Given the description of an element on the screen output the (x, y) to click on. 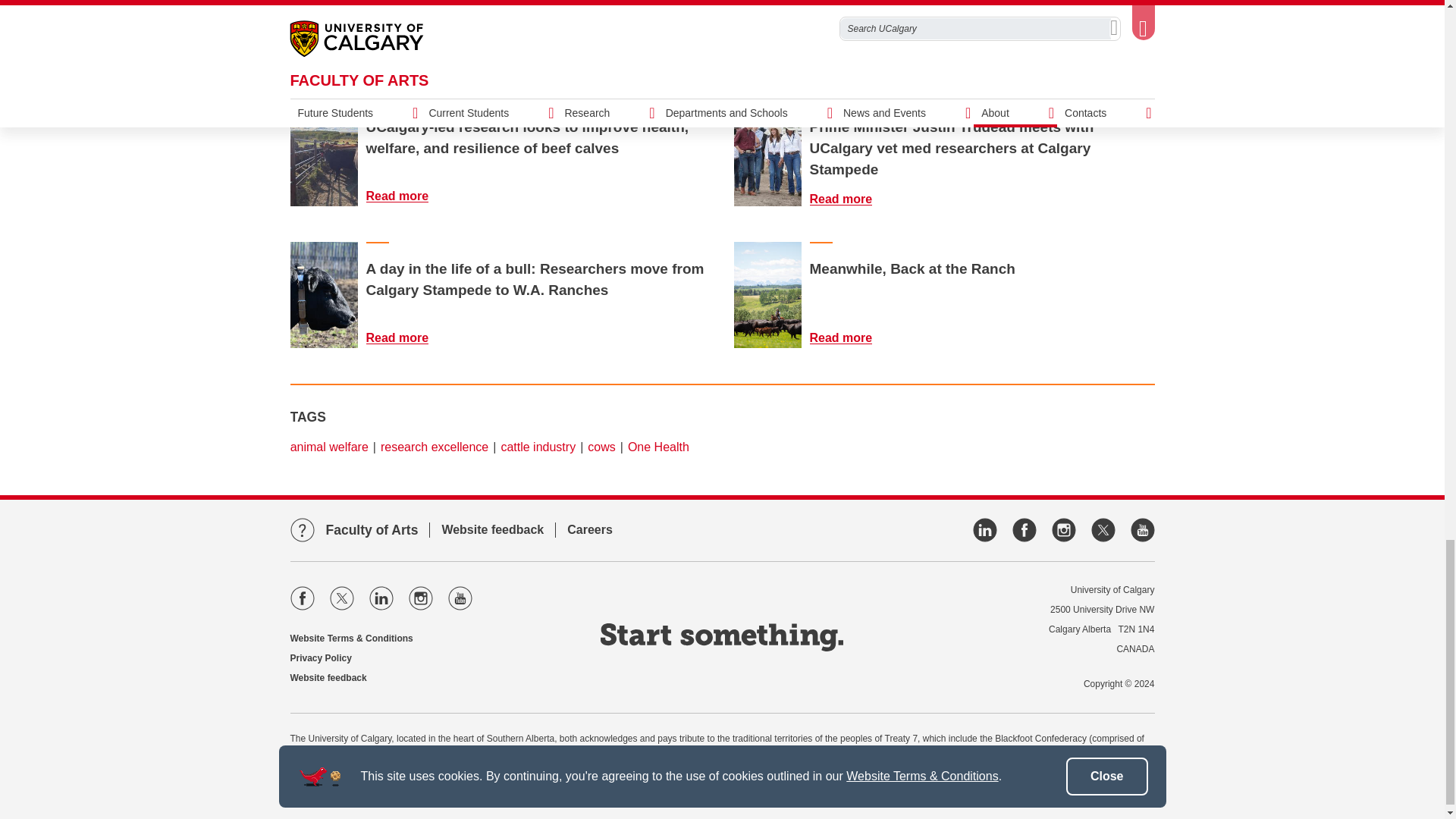
Meanwhile, Back at the Ranch (850, 337)
Vet med prof wins prestigious cattle health award (405, 53)
Vet med prof wins prestigious cattle health award (323, 32)
